Given the description of an element on the screen output the (x, y) to click on. 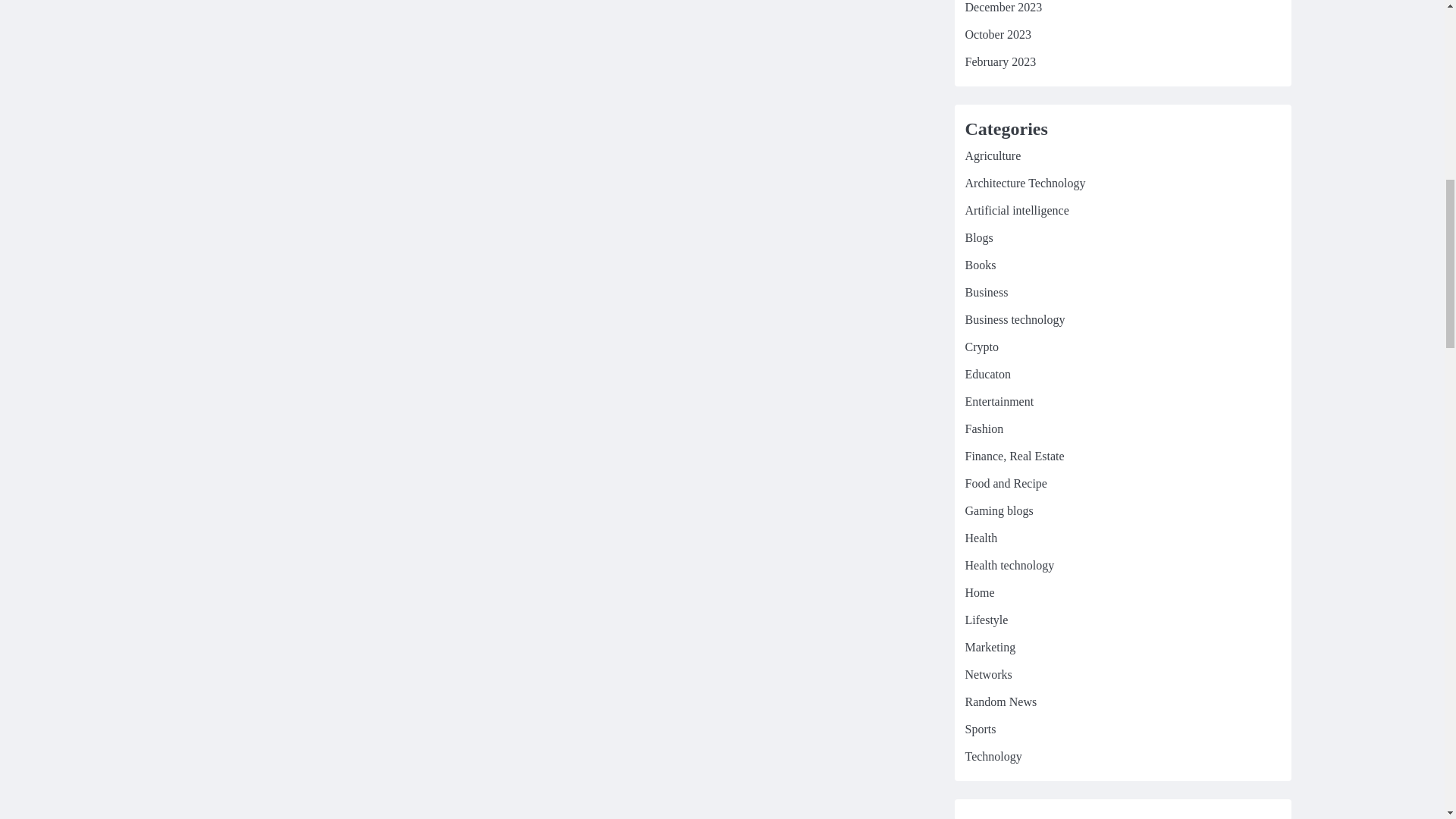
October 2023 (996, 33)
December 2023 (1002, 6)
